Given the description of an element on the screen output the (x, y) to click on. 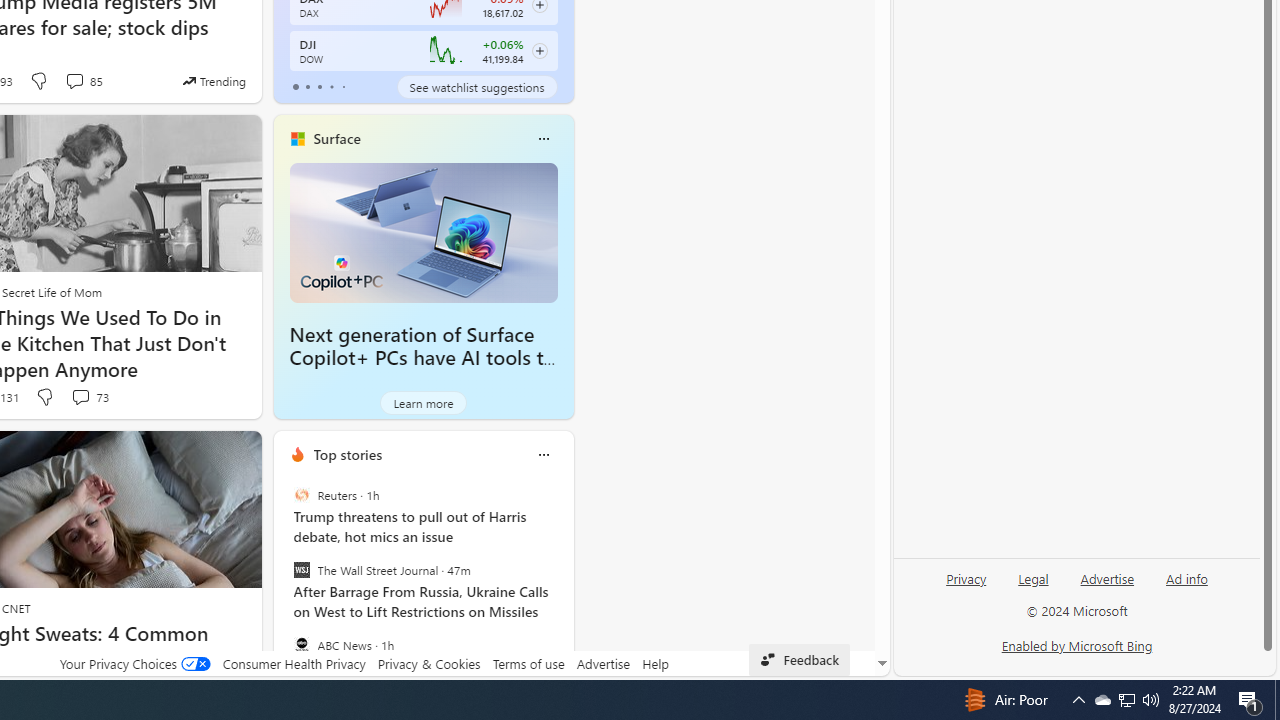
ABC News (301, 644)
next (563, 583)
tab-1 (306, 86)
The Wall Street Journal (301, 570)
Hide this story (201, 454)
tab-2 (319, 86)
tab-3 (331, 86)
